Given the description of an element on the screen output the (x, y) to click on. 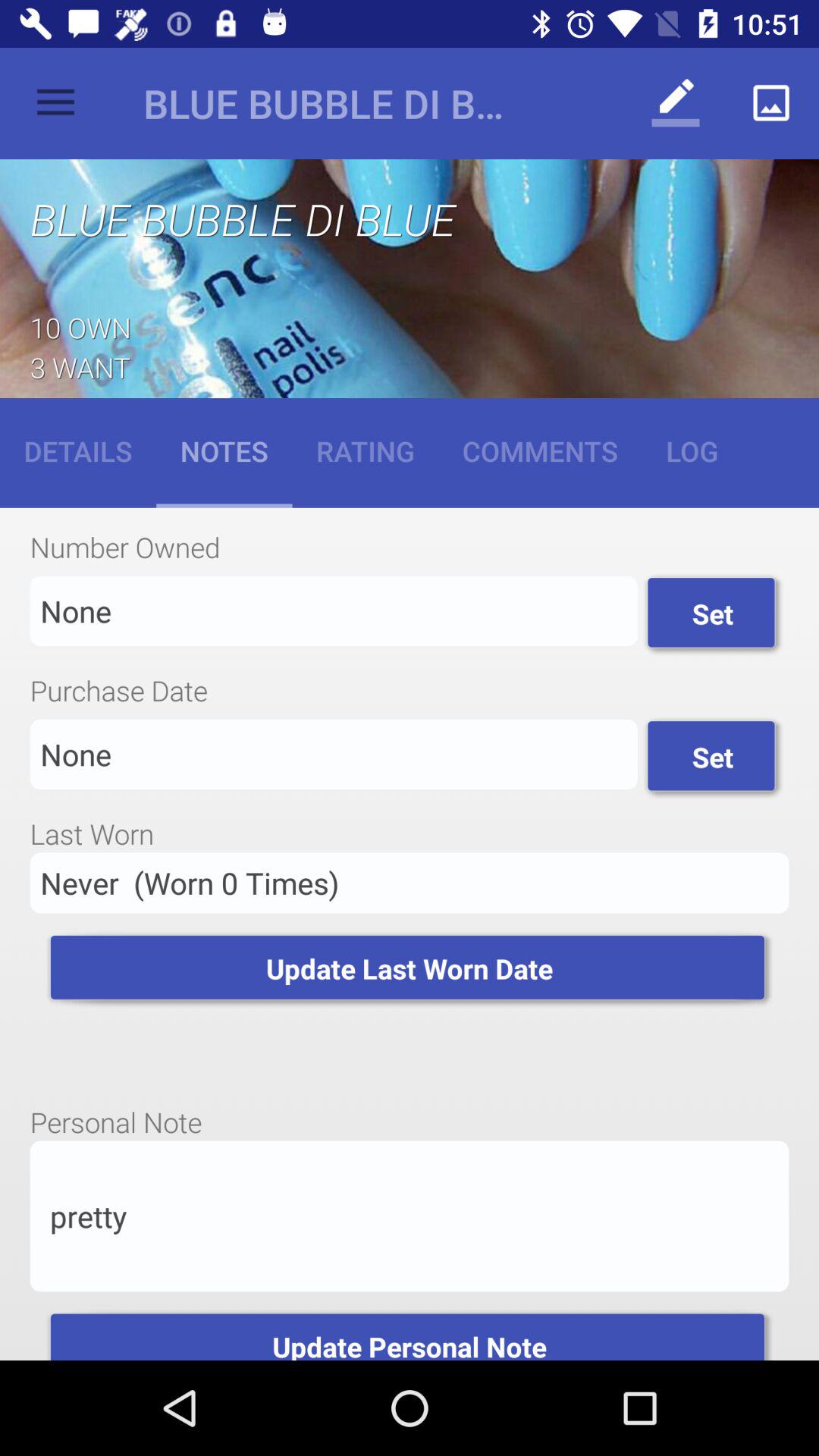
choose item next to the rating icon (224, 450)
